Given the description of an element on the screen output the (x, y) to click on. 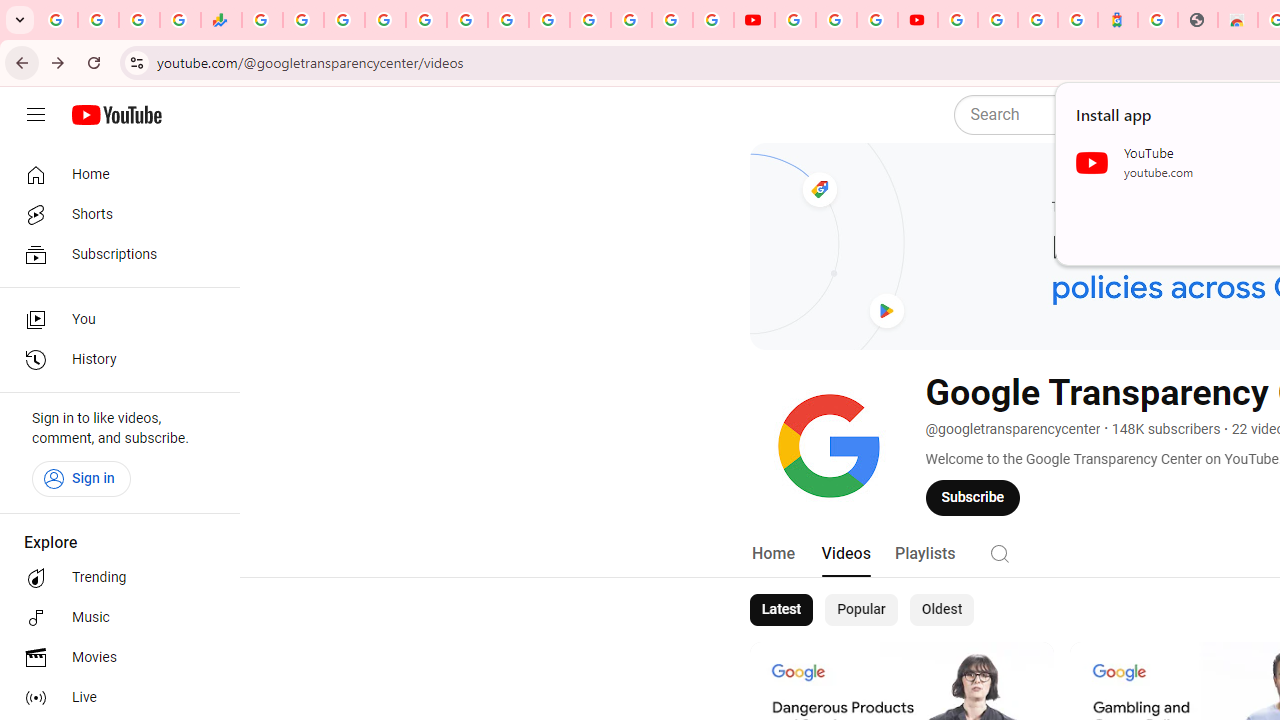
Android TV Policies and Guidelines - Transparency Center (507, 20)
Sign in - Google Accounts (997, 20)
Home (772, 553)
YouTube Home (116, 115)
Atour Hotel - Google hotels (1117, 20)
Search (999, 552)
Sign in - Google Accounts (589, 20)
Sign in - Google Accounts (671, 20)
Oldest (941, 609)
Google Account Help (836, 20)
